Given the description of an element on the screen output the (x, y) to click on. 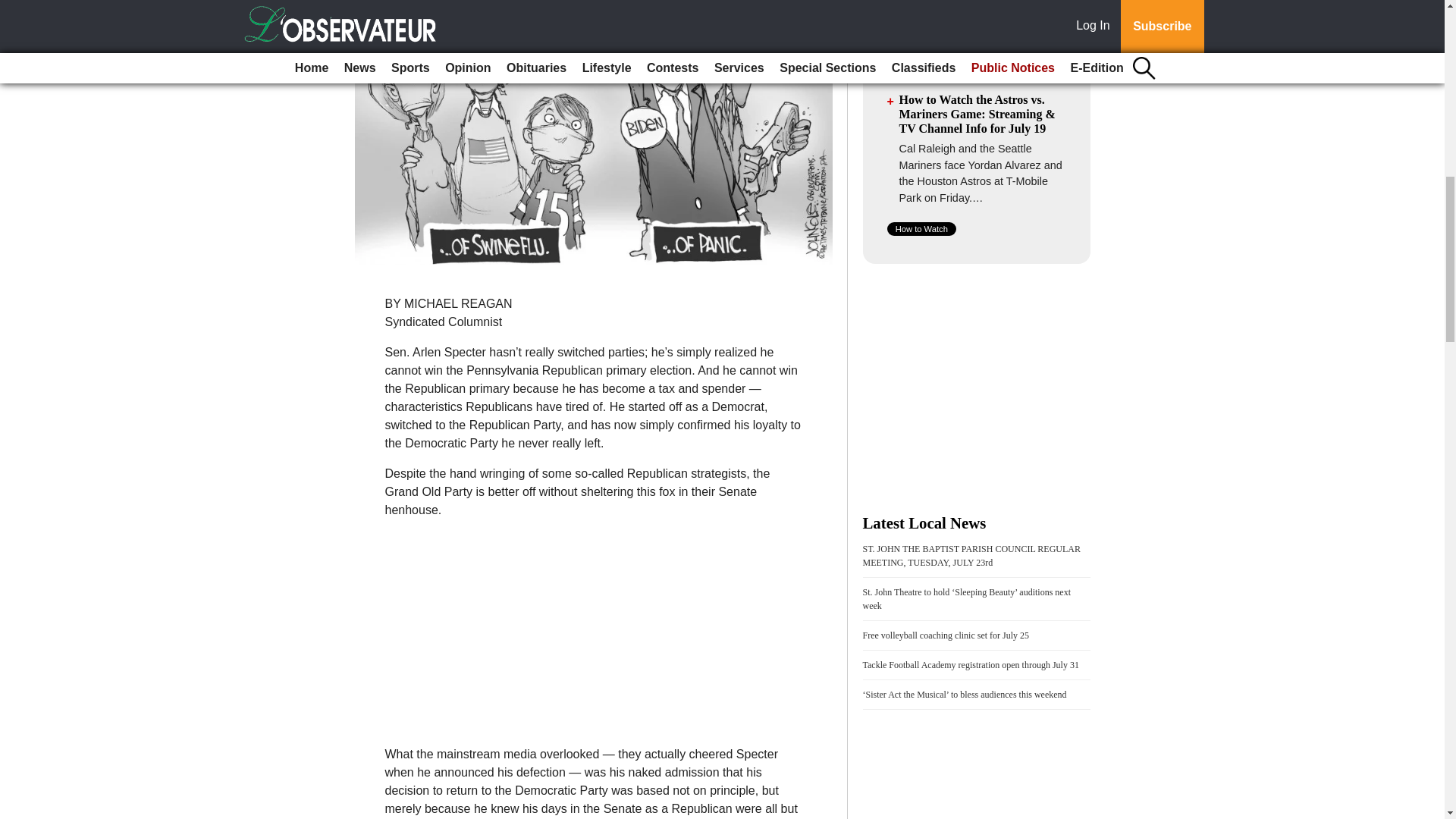
Tackle Football Academy registration open through July 31 (970, 665)
How to Watch (921, 228)
Free volleyball coaching clinic set for July 25 (946, 634)
